Given the description of an element on the screen output the (x, y) to click on. 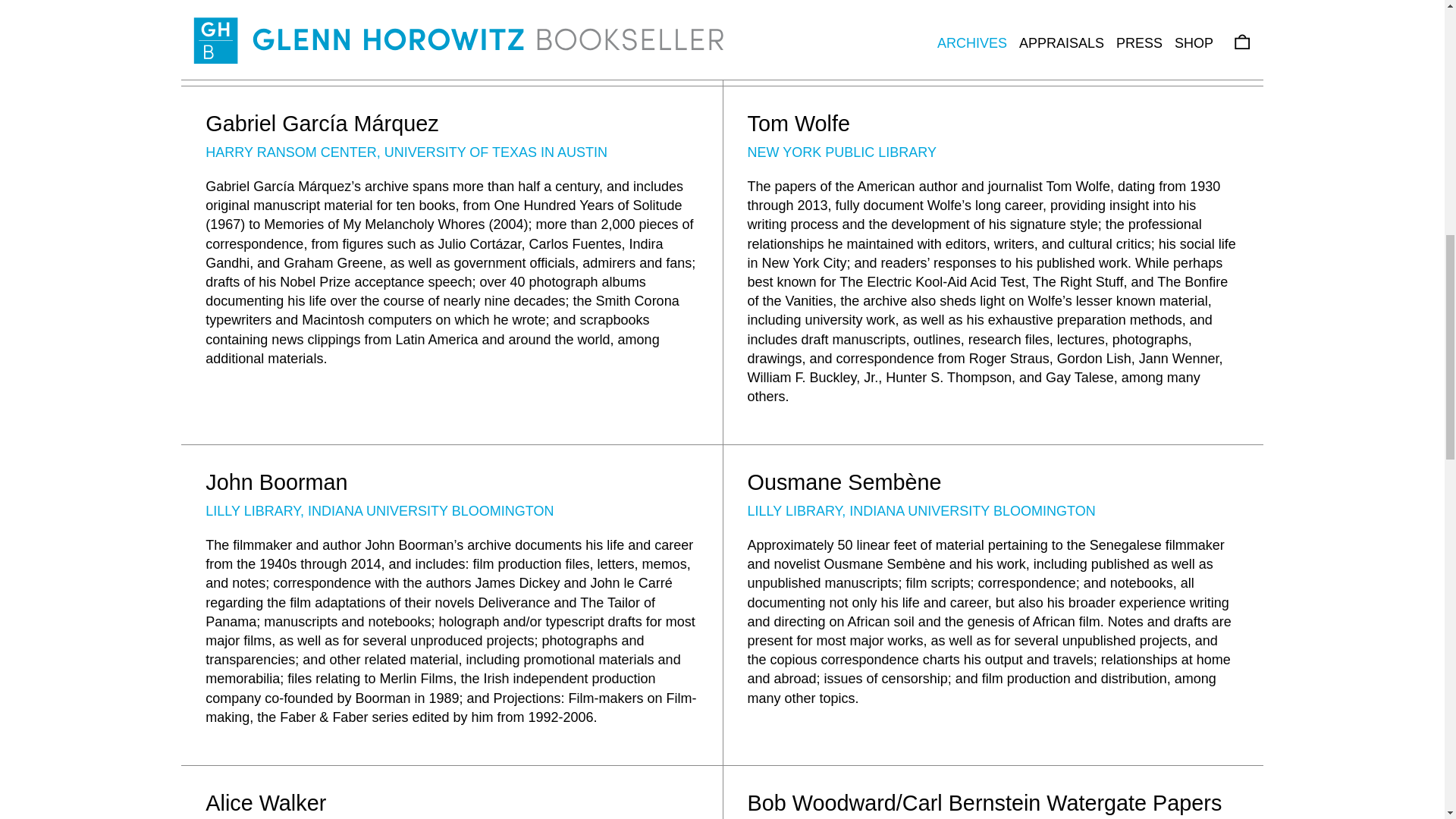
NEW YORK PUBLIC LIBRARY (842, 151)
LILLY LIBRARY, INDIANA UNIVERSITY BLOOMINGTON (379, 510)
HARRY RANSOM CENTER, UNIVERSITY OF TEXAS IN AUSTIN (406, 151)
LILLY LIBRARY, INDIANA UNIVERSITY BLOOMINGTON (922, 510)
